Given the description of an element on the screen output the (x, y) to click on. 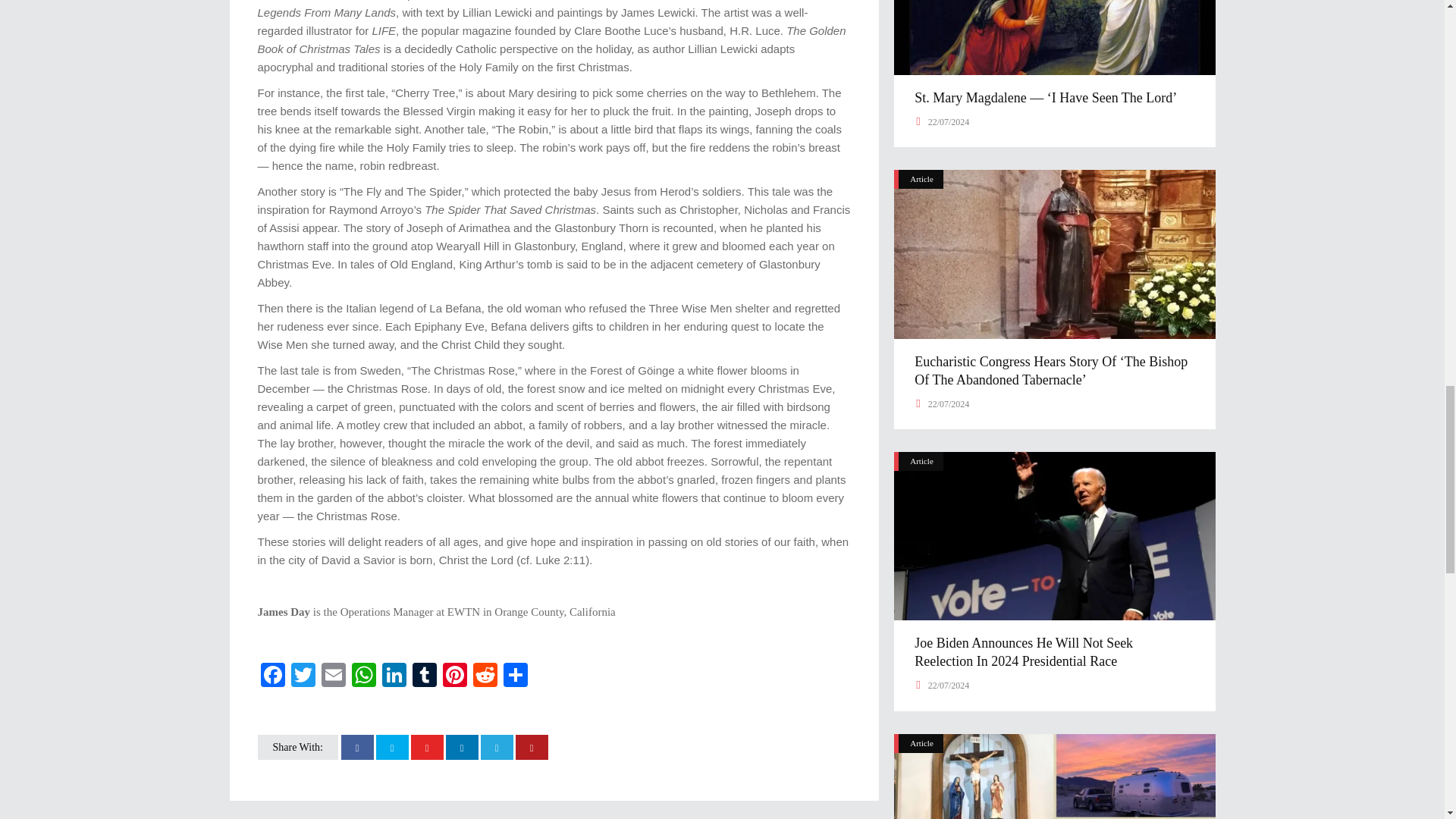
WhatsApp (363, 676)
LinkedIn (393, 676)
Facebook (272, 676)
Twitter (303, 676)
Pinterest (454, 676)
Email (333, 676)
Reddit (485, 676)
Tumblr (424, 676)
